Given the description of an element on the screen output the (x, y) to click on. 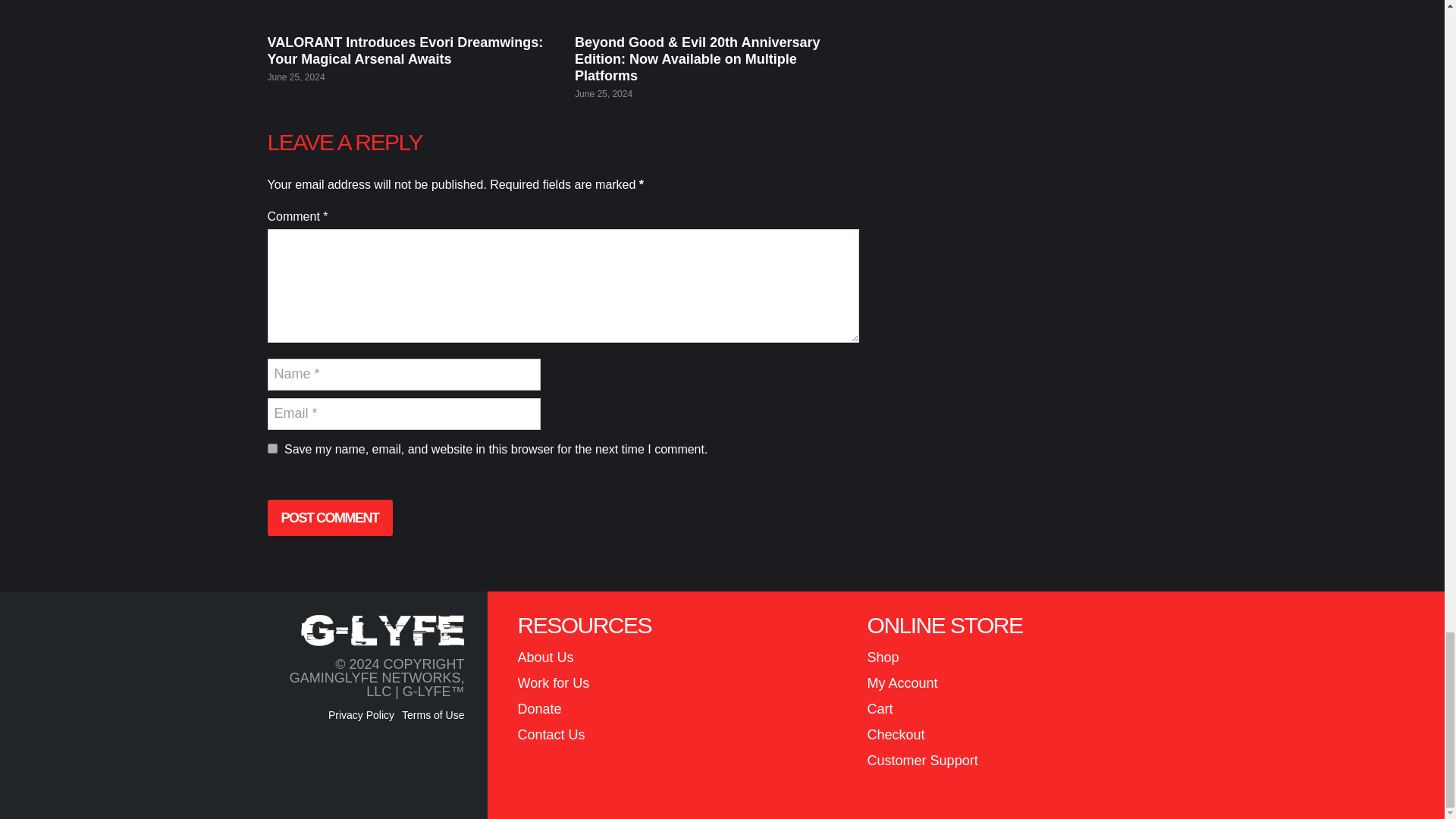
Post Comment (328, 517)
yes (271, 448)
